Given the description of an element on the screen output the (x, y) to click on. 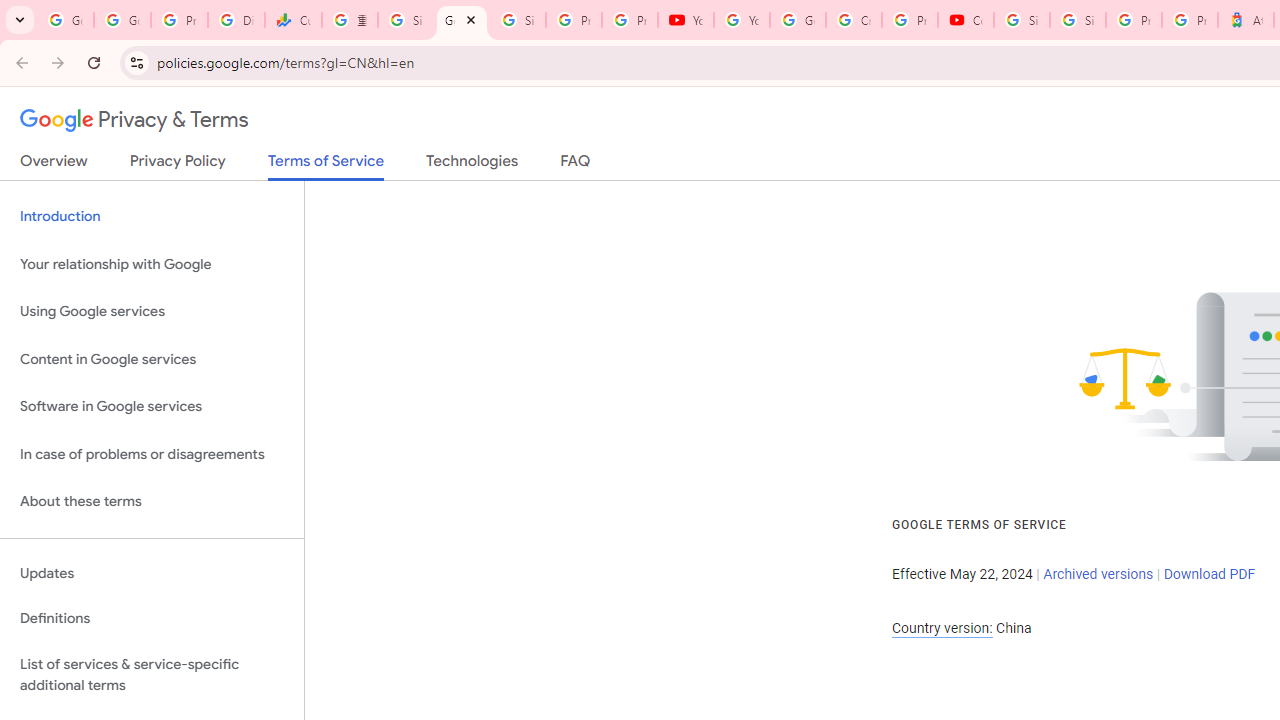
Definitions (152, 619)
About these terms (152, 502)
Content Creator Programs & Opportunities - YouTube Creators (966, 20)
Sign in - Google Accounts (518, 20)
Sign in - Google Accounts (1077, 20)
Content in Google services (152, 358)
Sign in - Google Accounts (405, 20)
Technologies (472, 165)
Google Workspace Admin Community (65, 20)
